Given the description of an element on the screen output the (x, y) to click on. 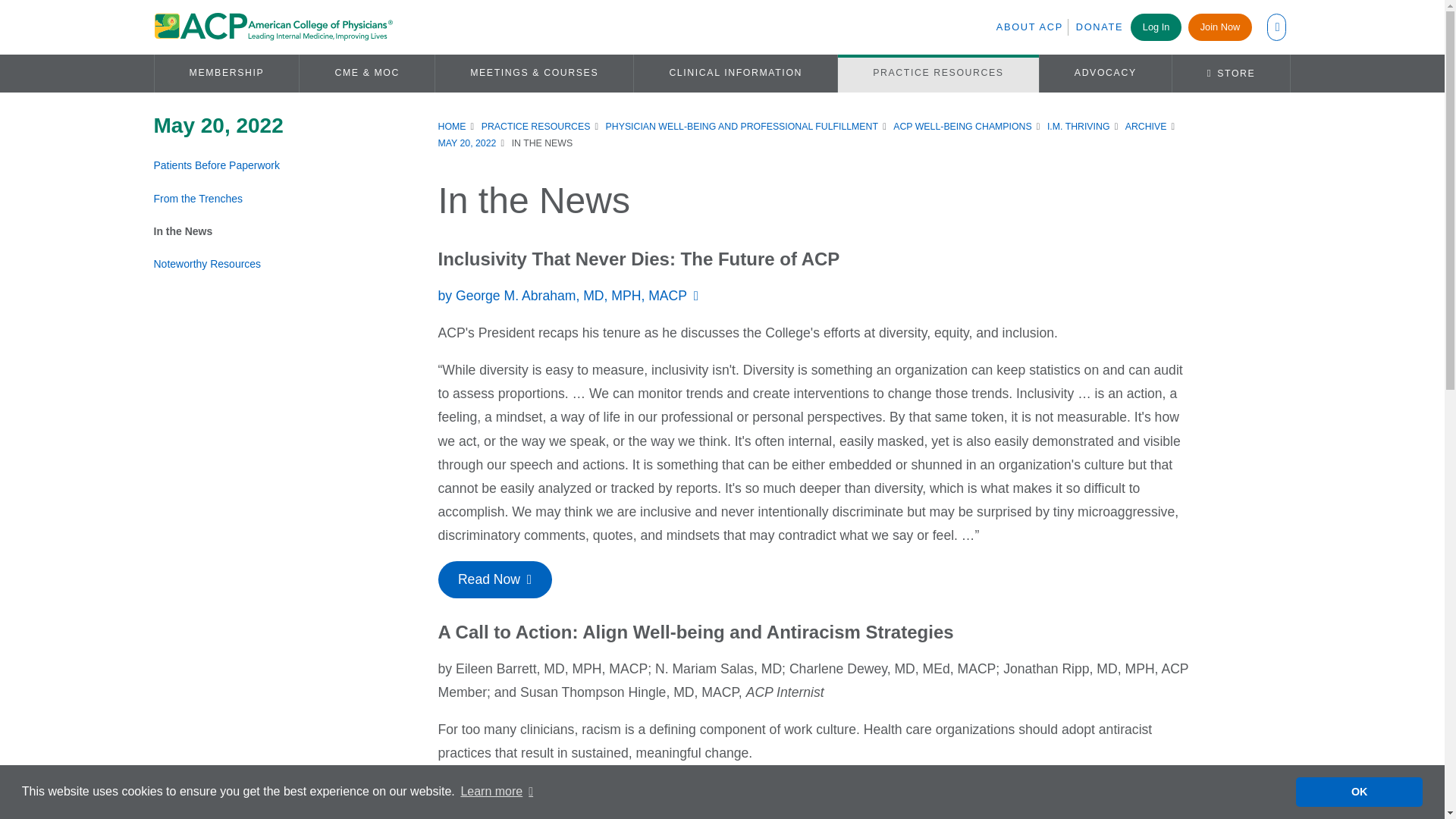
MEMBERSHIP (226, 73)
OK (1358, 791)
Log in (1065, 269)
ABOUT ACP (1031, 27)
DONATE (1098, 27)
Learn more (496, 791)
Log In (1156, 26)
Home (271, 27)
Join Now (1220, 26)
